Given the description of an element on the screen output the (x, y) to click on. 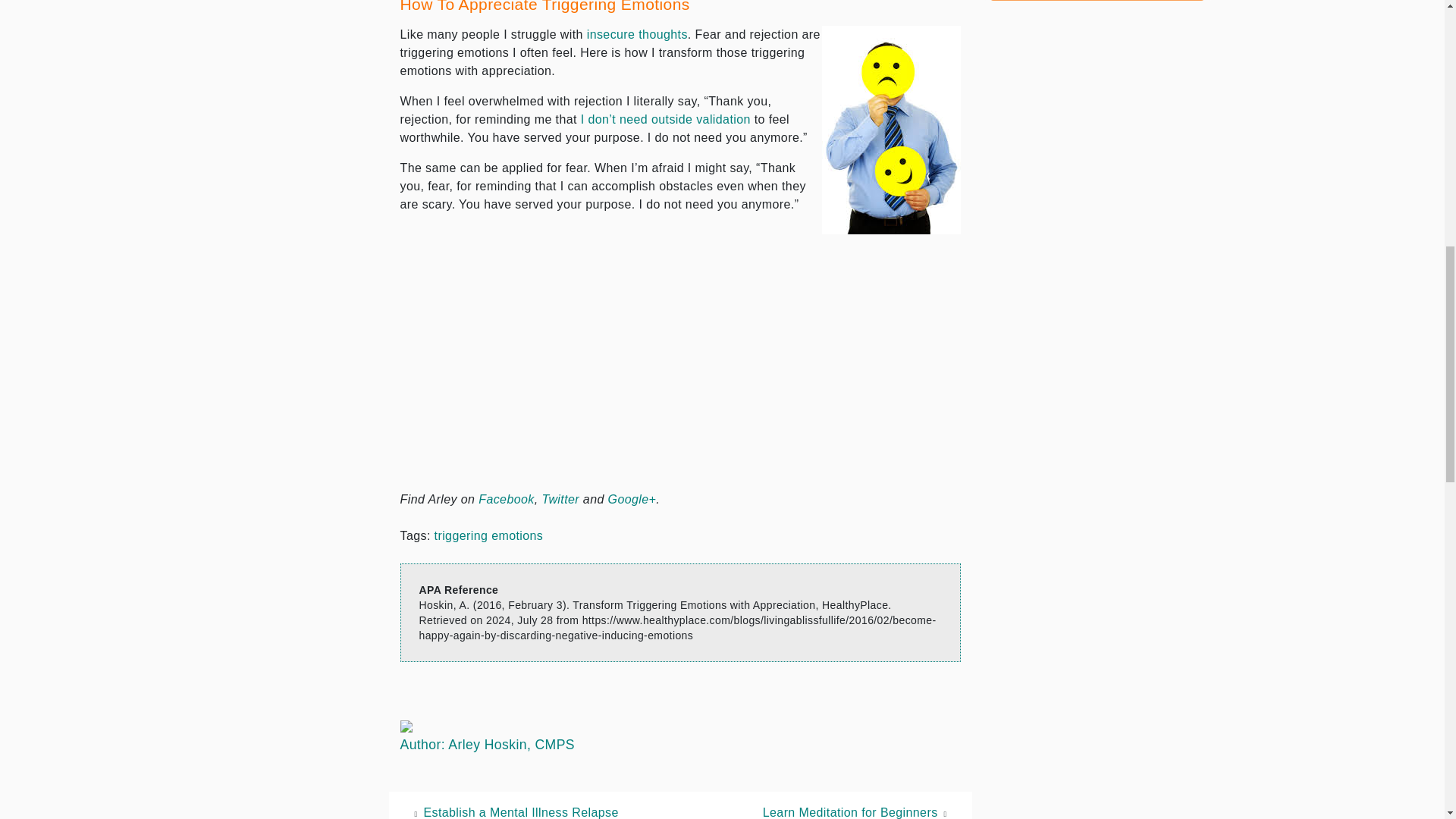
How Insecure Thoughts Keep You From Feeling Happy (636, 33)
Arley Hoskin on Twitter (560, 499)
Stop Relying On Others For Self-Esteem (665, 119)
Arley Hoskin on Facebook (506, 499)
Transform Triggering Emotions Because You'd Rather Be Happy (891, 129)
